Given the description of an element on the screen output the (x, y) to click on. 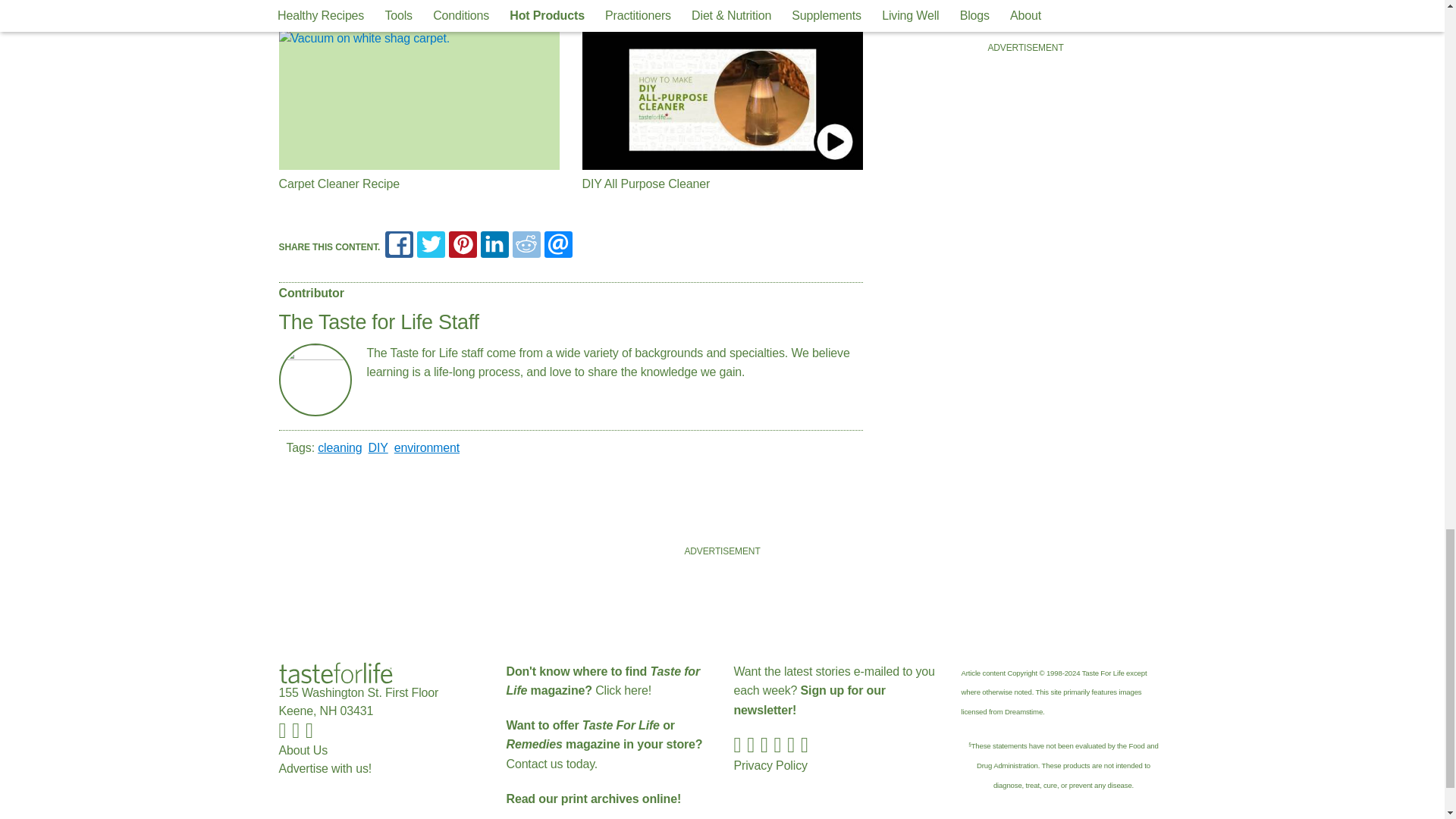
Carpet Cleaner Recipe (419, 99)
Taste for Life (336, 672)
